Given the description of an element on the screen output the (x, y) to click on. 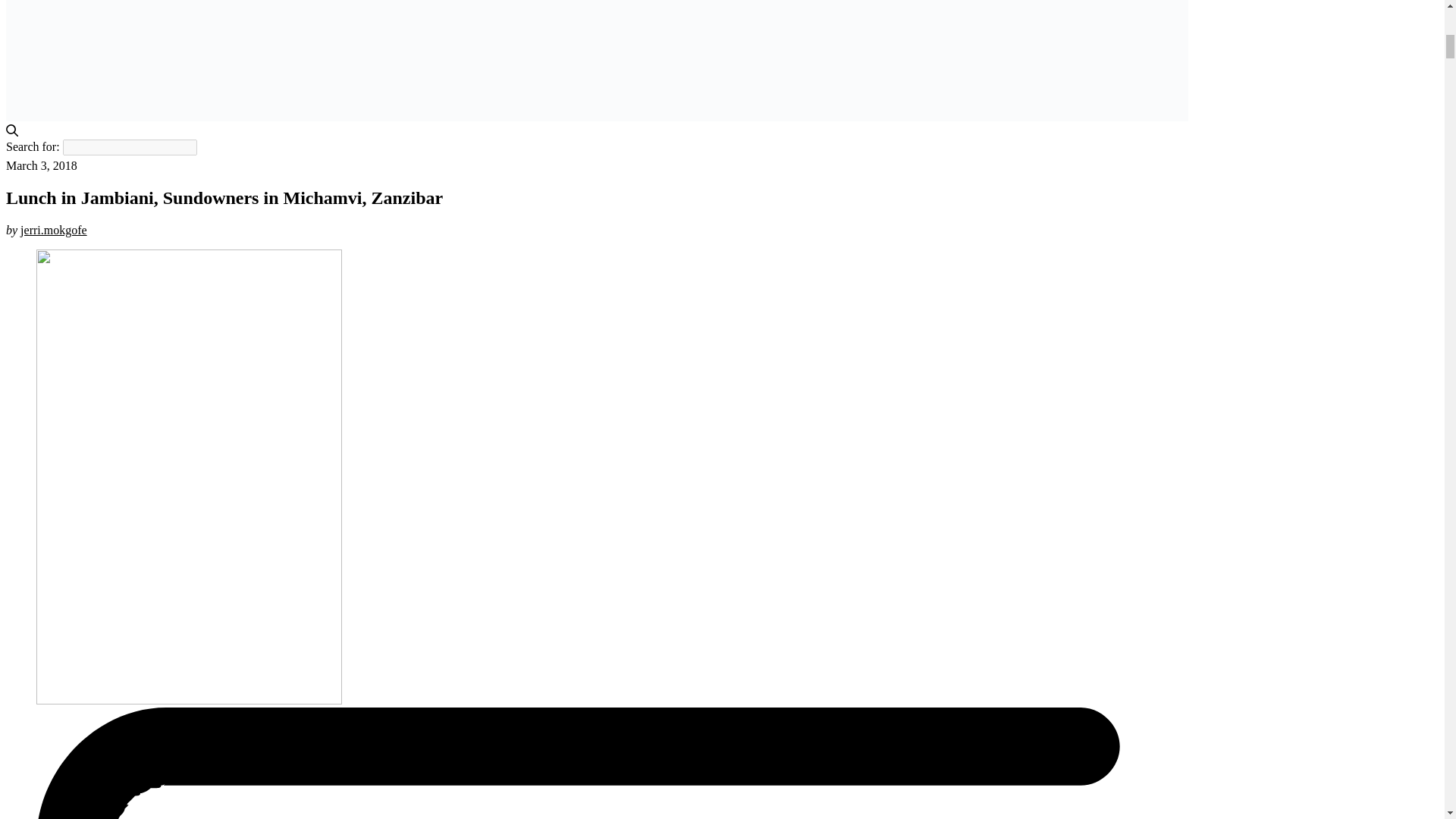
Posts by jerri.mokgofe (53, 229)
jerri.mokgofe (53, 229)
